Given the description of an element on the screen output the (x, y) to click on. 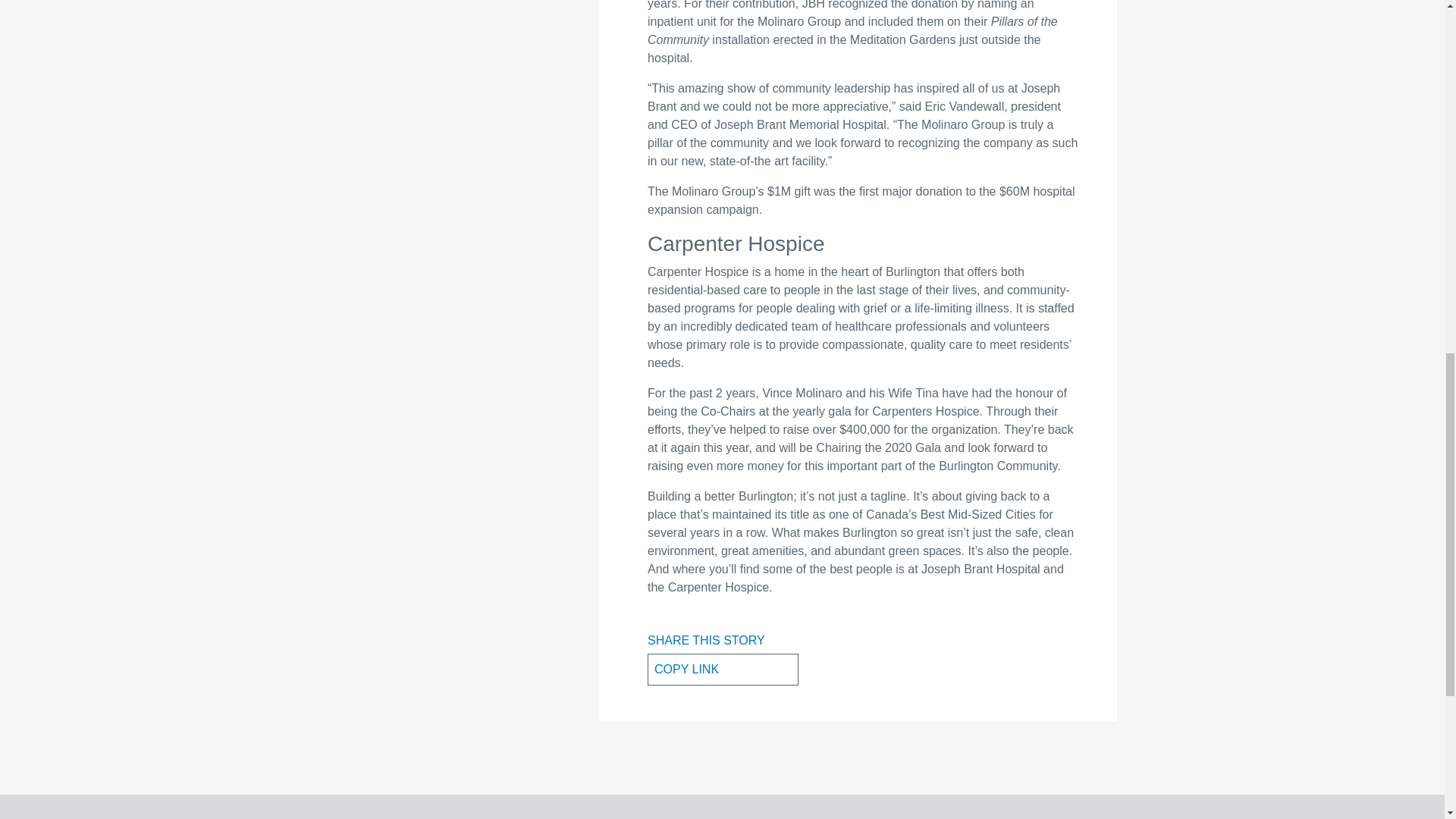
COPY LINK (722, 669)
